Given the description of an element on the screen output the (x, y) to click on. 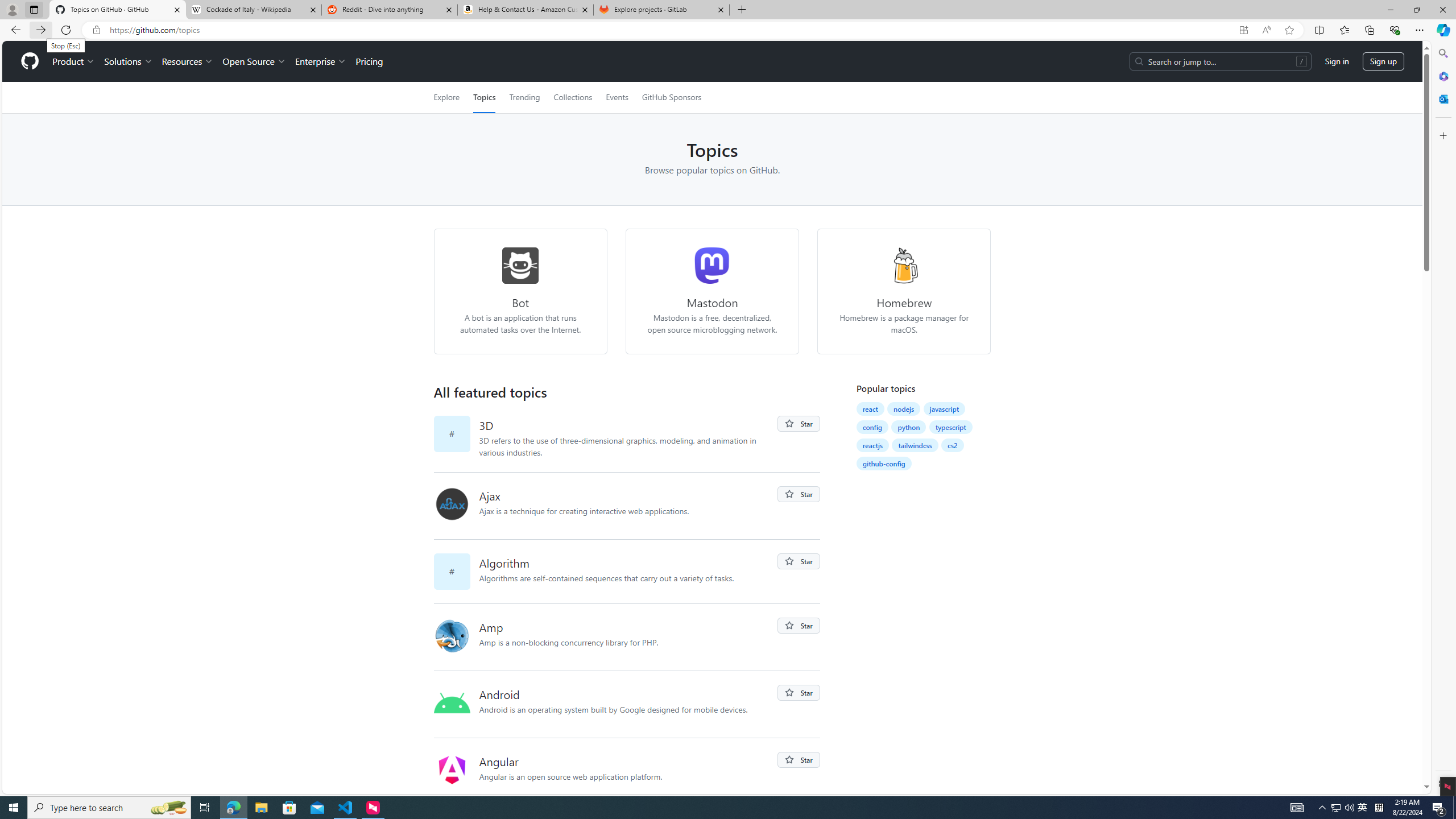
Enterprise (319, 60)
Side bar (1443, 418)
Forward (40, 29)
Topics (484, 97)
App available. Install GitHub (1243, 29)
Help & Contact Us - Amazon Customer Service (525, 9)
Events (616, 97)
Product (74, 60)
App bar (728, 29)
cs2 (951, 445)
